Given the description of an element on the screen output the (x, y) to click on. 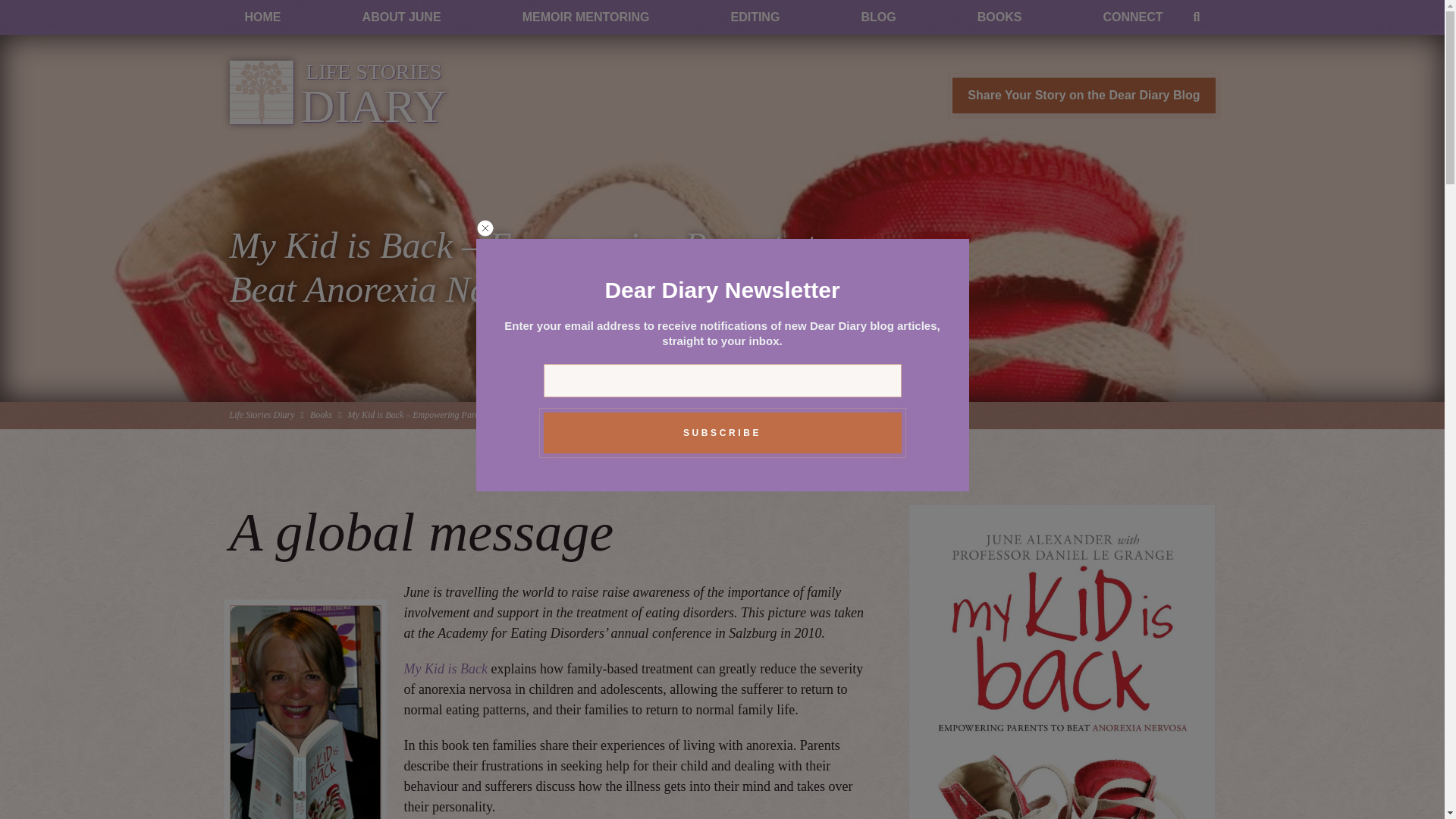
Go to Books. (320, 414)
Share Your Story on the Dear Diary Blog (1083, 94)
EDITING (754, 17)
Search Life Stories Diary (1196, 17)
ABOUT JUNE (402, 17)
BOOKS (999, 17)
Subscribe (722, 432)
Life Stories Diary - Now is the time to start writing! (337, 94)
Share Your Story on the Dear Diary Blog (337, 94)
MEMOIR MENTORING (1083, 94)
HOME (585, 17)
My Kid is Back (261, 17)
Life Stories Diary (444, 668)
Books (261, 414)
